Given the description of an element on the screen output the (x, y) to click on. 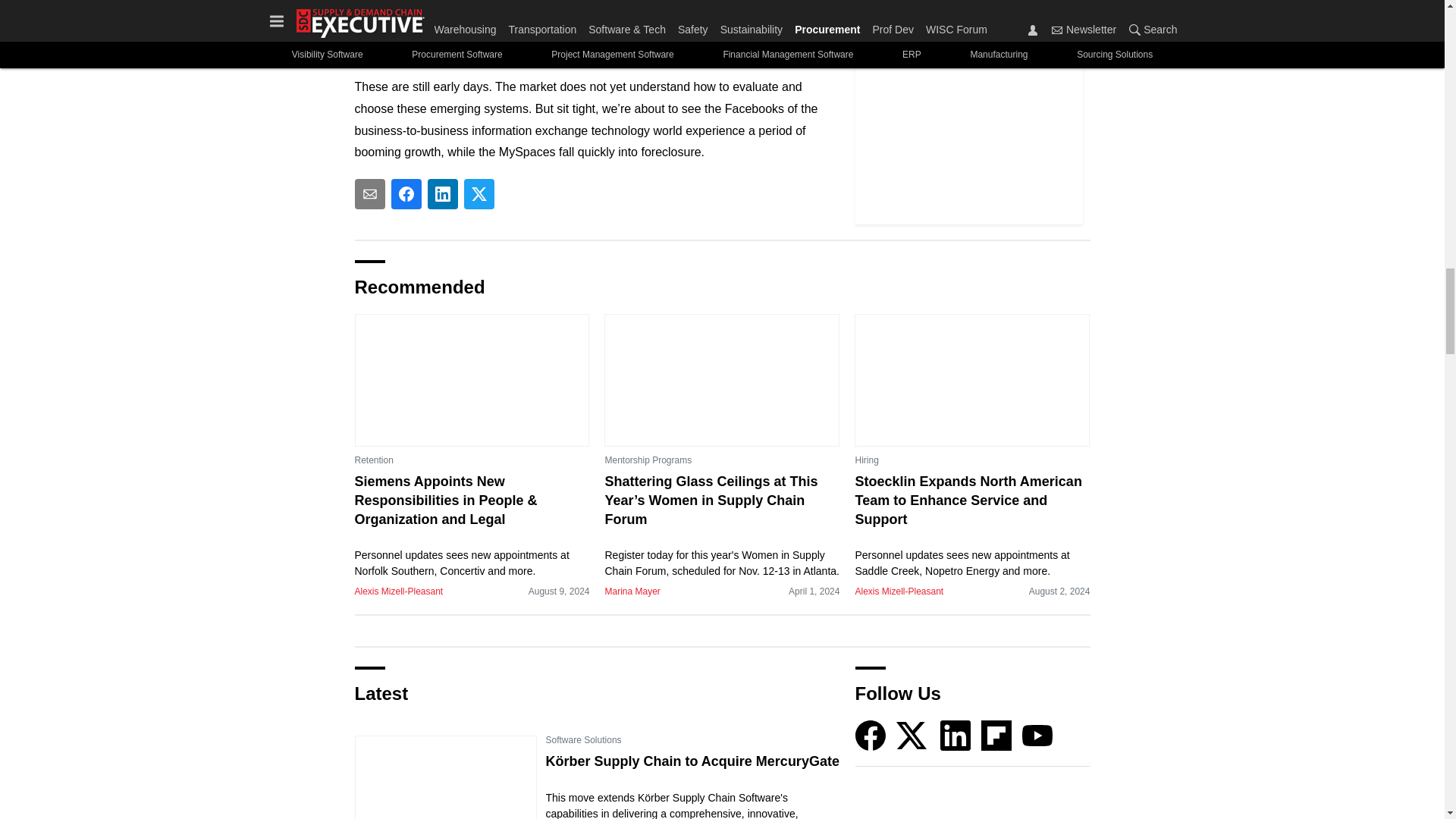
Facebook icon (870, 735)
Share To email (370, 194)
Share To twitter (479, 194)
Share To linkedin (443, 194)
Share To facebook (406, 194)
Flipboard icon (996, 735)
YouTube icon (1037, 735)
Twitter X icon (911, 735)
LinkedIn icon (955, 735)
